Given the description of an element on the screen output the (x, y) to click on. 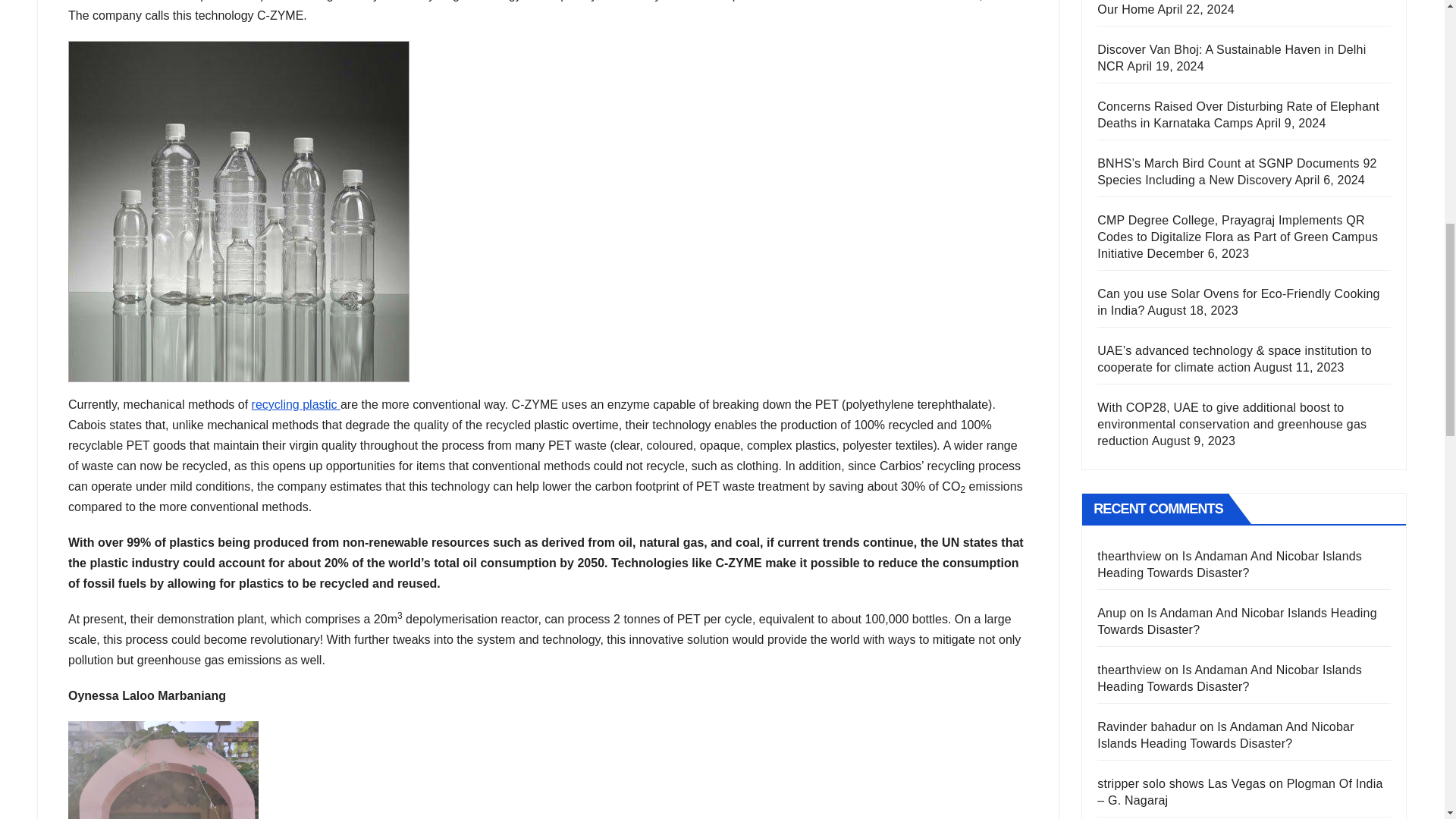
recycling plastic (295, 404)
